Given the description of an element on the screen output the (x, y) to click on. 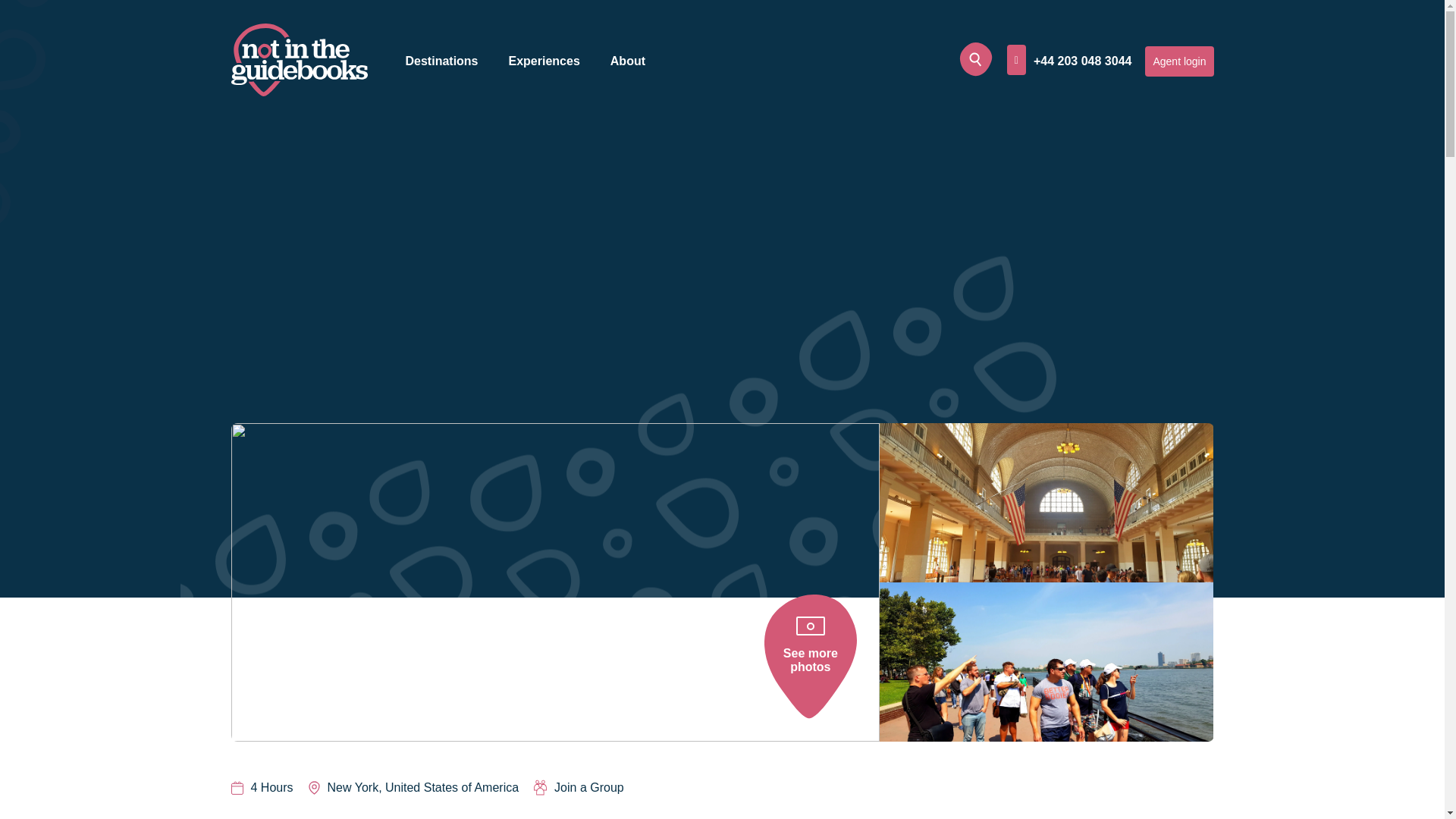
Destinations (440, 60)
